Given the description of an element on the screen output the (x, y) to click on. 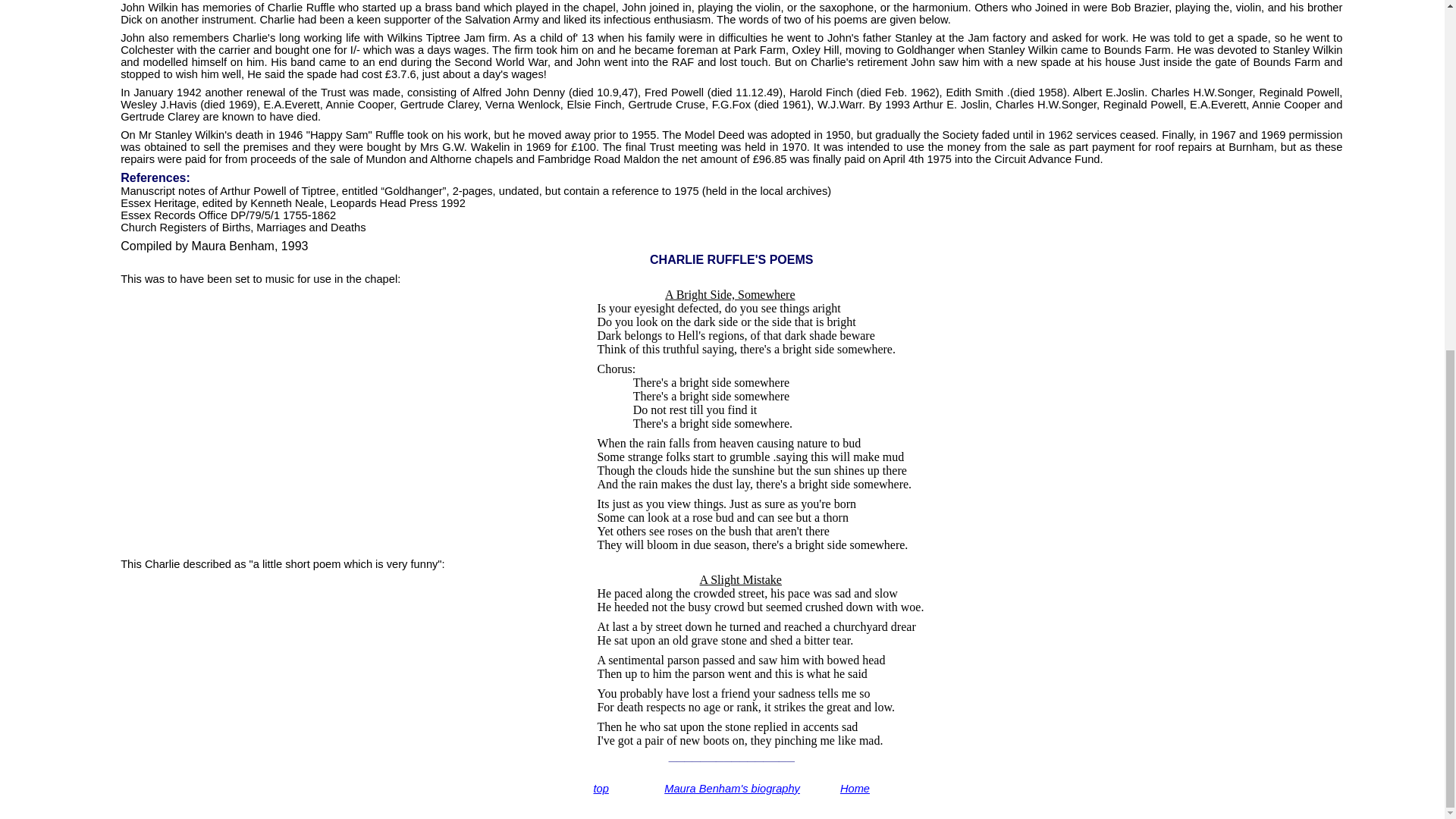
Home (854, 788)
Maura Benham's biography (731, 788)
top (600, 788)
